Given the description of an element on the screen output the (x, y) to click on. 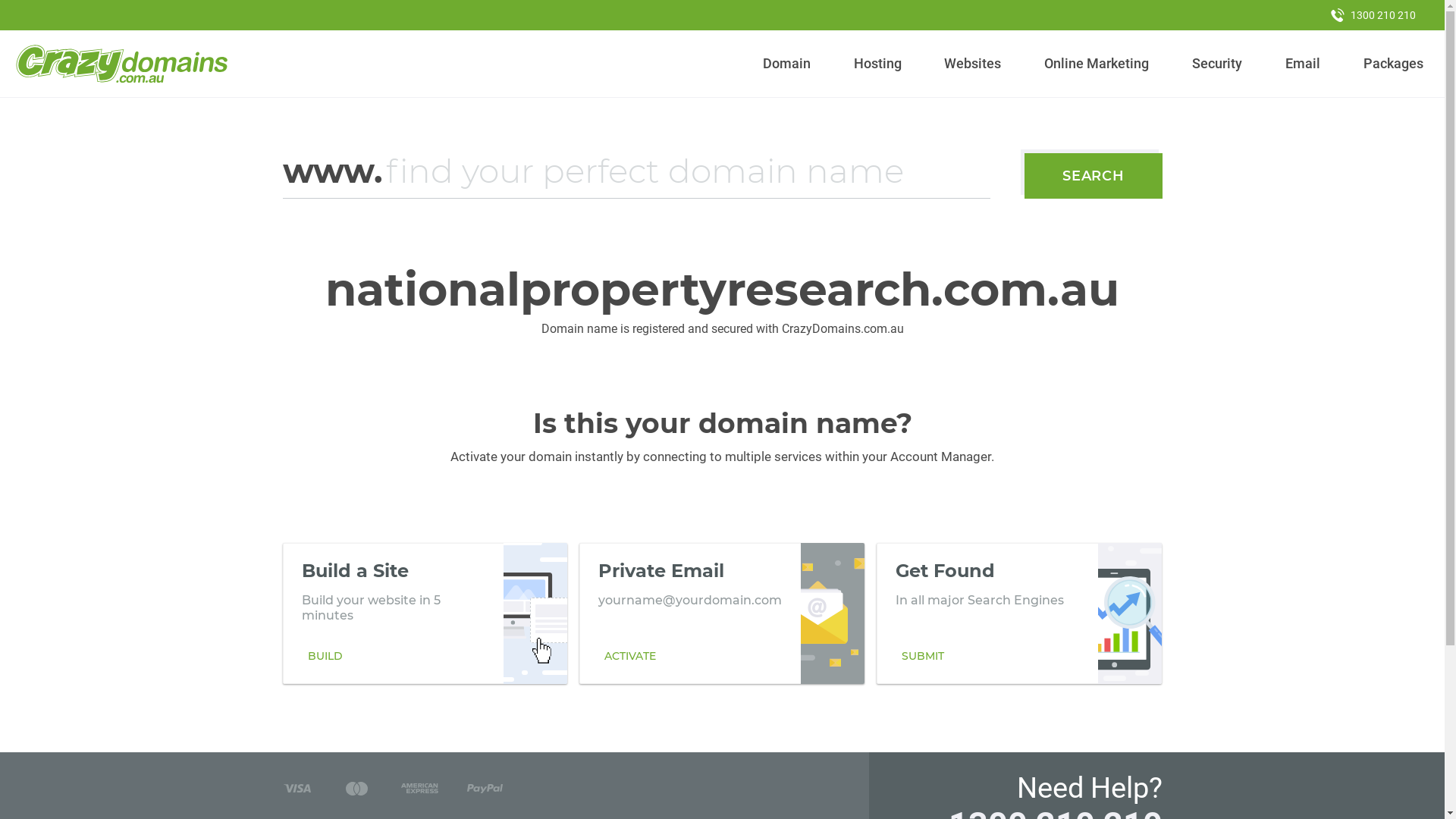
Domain Element type: text (786, 63)
Websites Element type: text (972, 63)
Security Element type: text (1217, 63)
Hosting Element type: text (877, 63)
Packages Element type: text (1392, 63)
SEARCH Element type: text (1092, 175)
Online Marketing Element type: text (1096, 63)
Get Found
In all major Search Engines
SUBMIT Element type: text (1018, 613)
Email Element type: text (1302, 63)
Build a Site
Build your website in 5 minutes
BUILD Element type: text (424, 613)
Private Email
yourname@yourdomain.com
ACTIVATE Element type: text (721, 613)
1300 210 210 Element type: text (1373, 15)
